Given the description of an element on the screen output the (x, y) to click on. 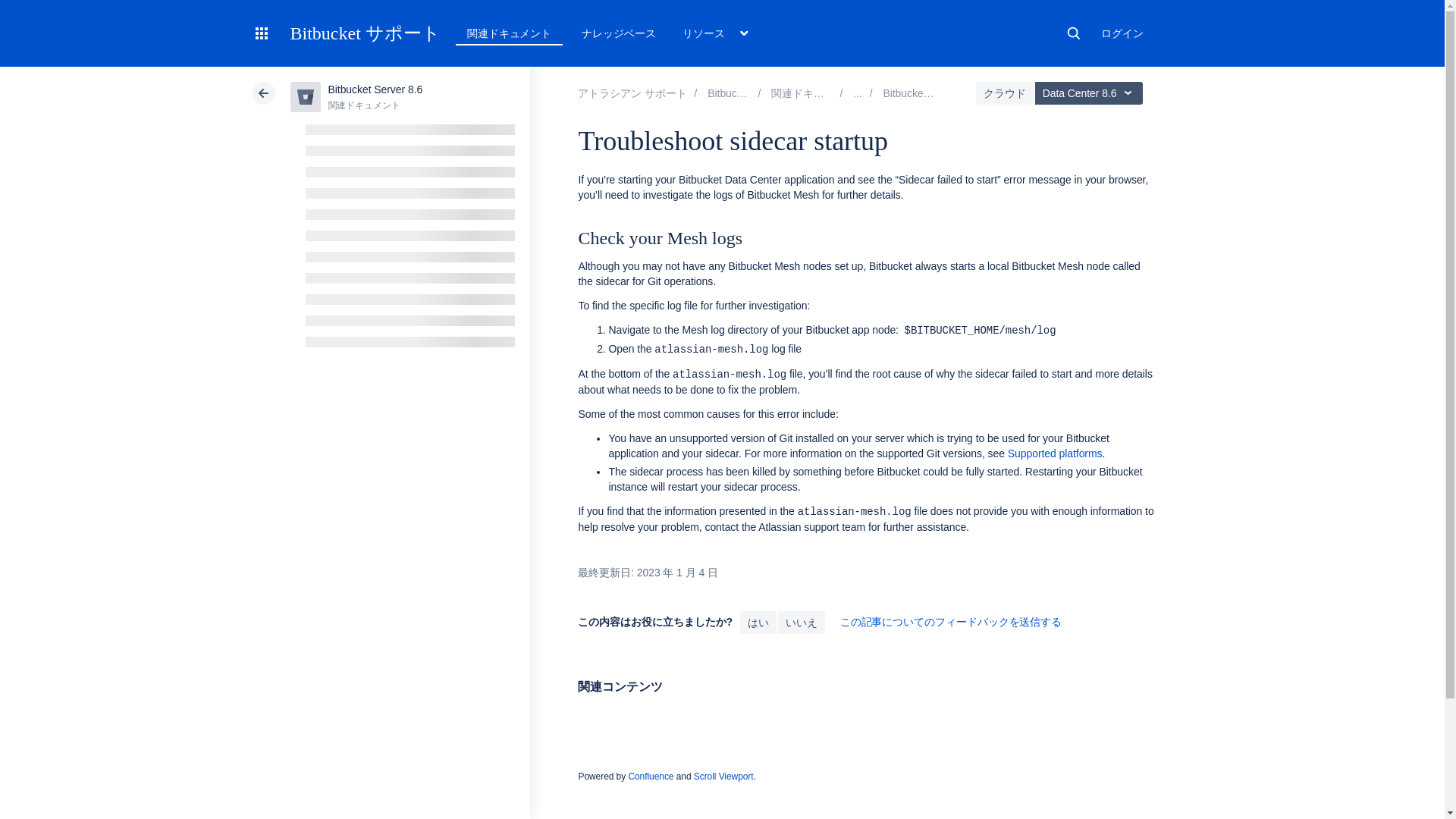
Bitbucket (737, 92)
Bitbucket Server 8.6 (813, 92)
Bitbucket Mesh (918, 92)
